Given the description of an element on the screen output the (x, y) to click on. 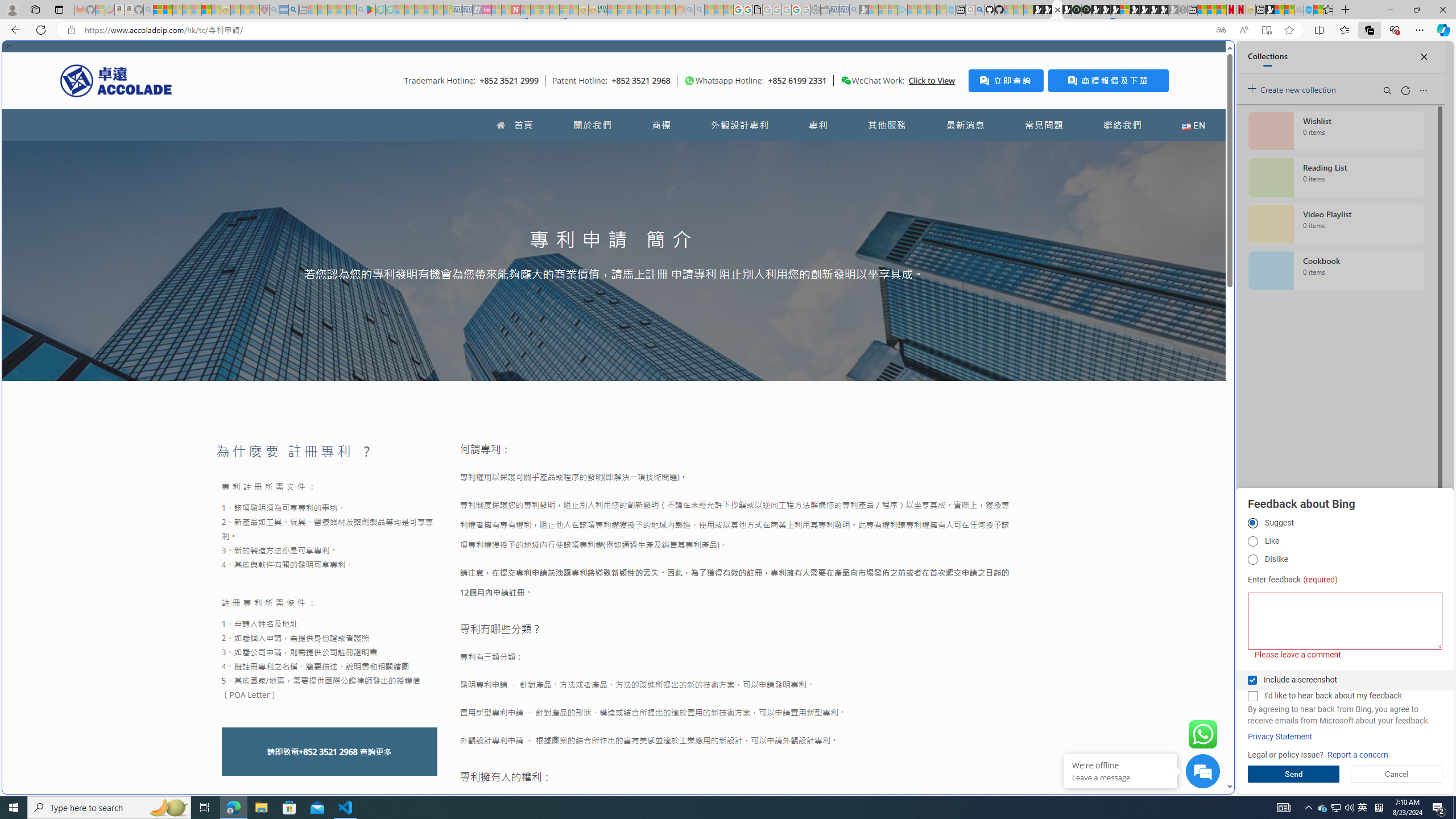
Microsoft Start Gaming - Sleeping (863, 9)
Include a screenshot (1251, 679)
